Given the description of an element on the screen output the (x, y) to click on. 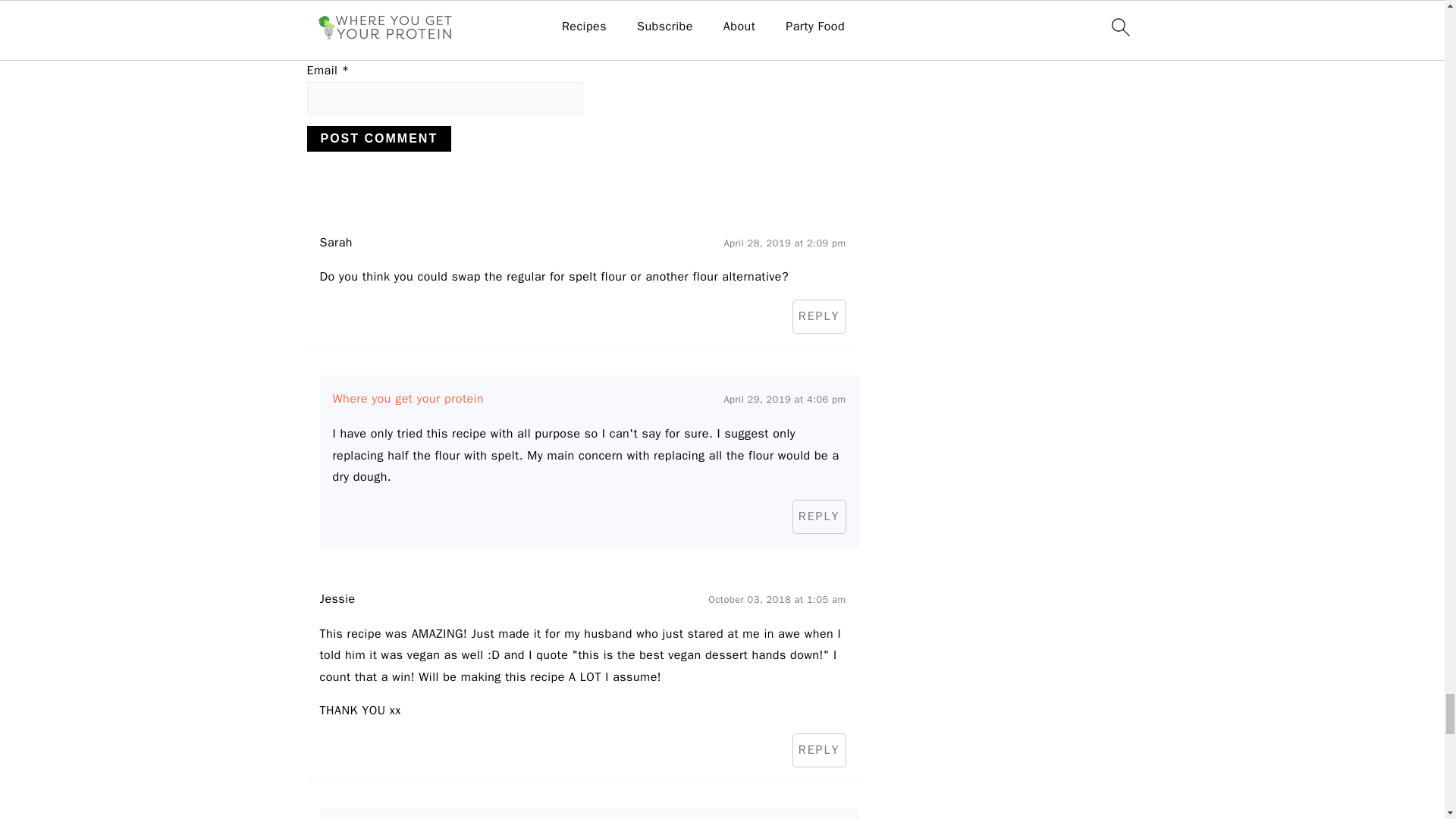
Post Comment (378, 138)
